Given the description of an element on the screen output the (x, y) to click on. 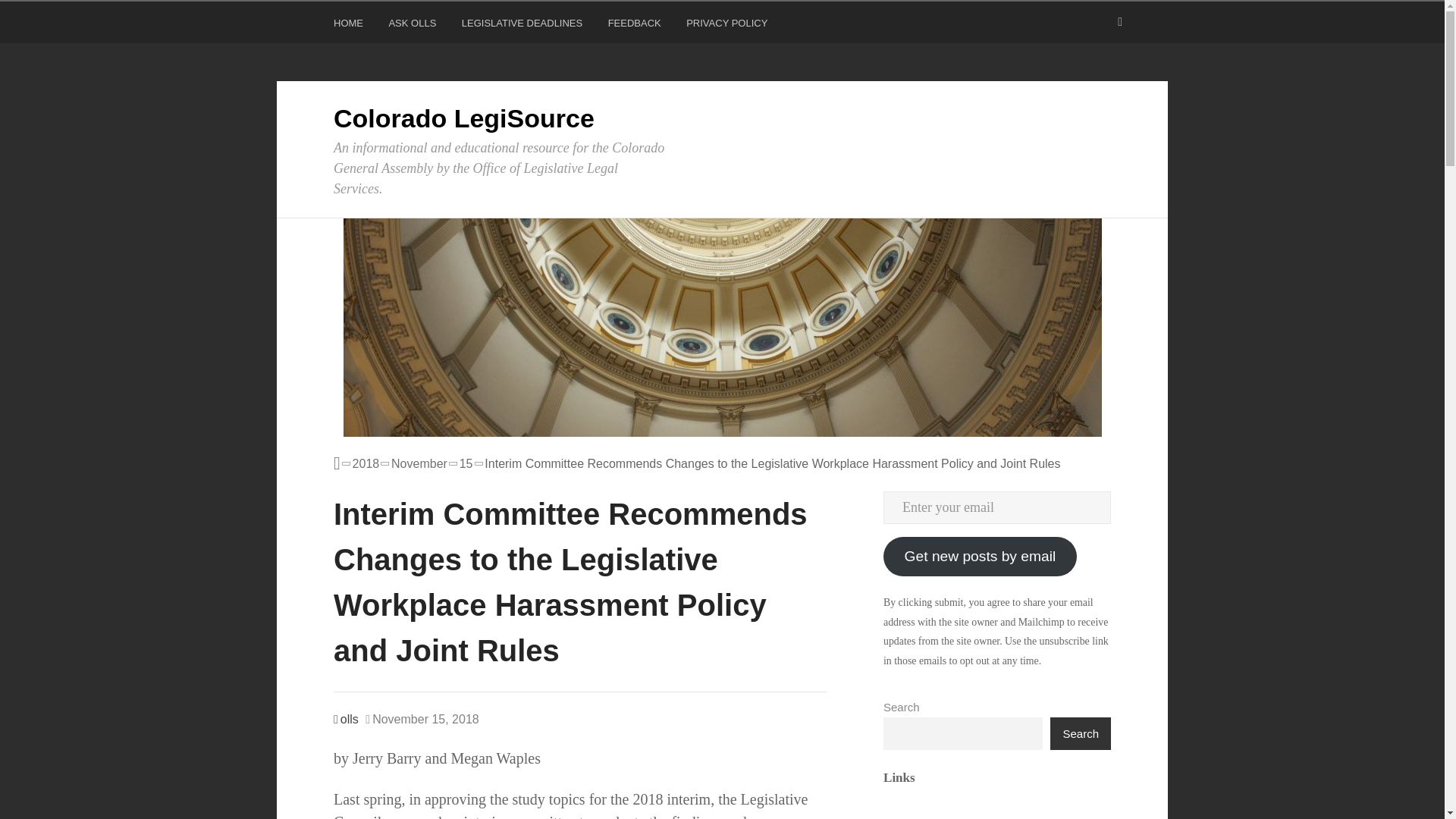
PRIVACY POLICY (728, 26)
Enter your email (996, 507)
olls (345, 718)
HOME (349, 26)
Get new posts by email (980, 556)
2018 (366, 464)
ASK OLLS (413, 26)
Thursday, November 15, 2018, 2:48 pm (422, 719)
FEEDBACK (636, 26)
Search (1079, 733)
